Given the description of an element on the screen output the (x, y) to click on. 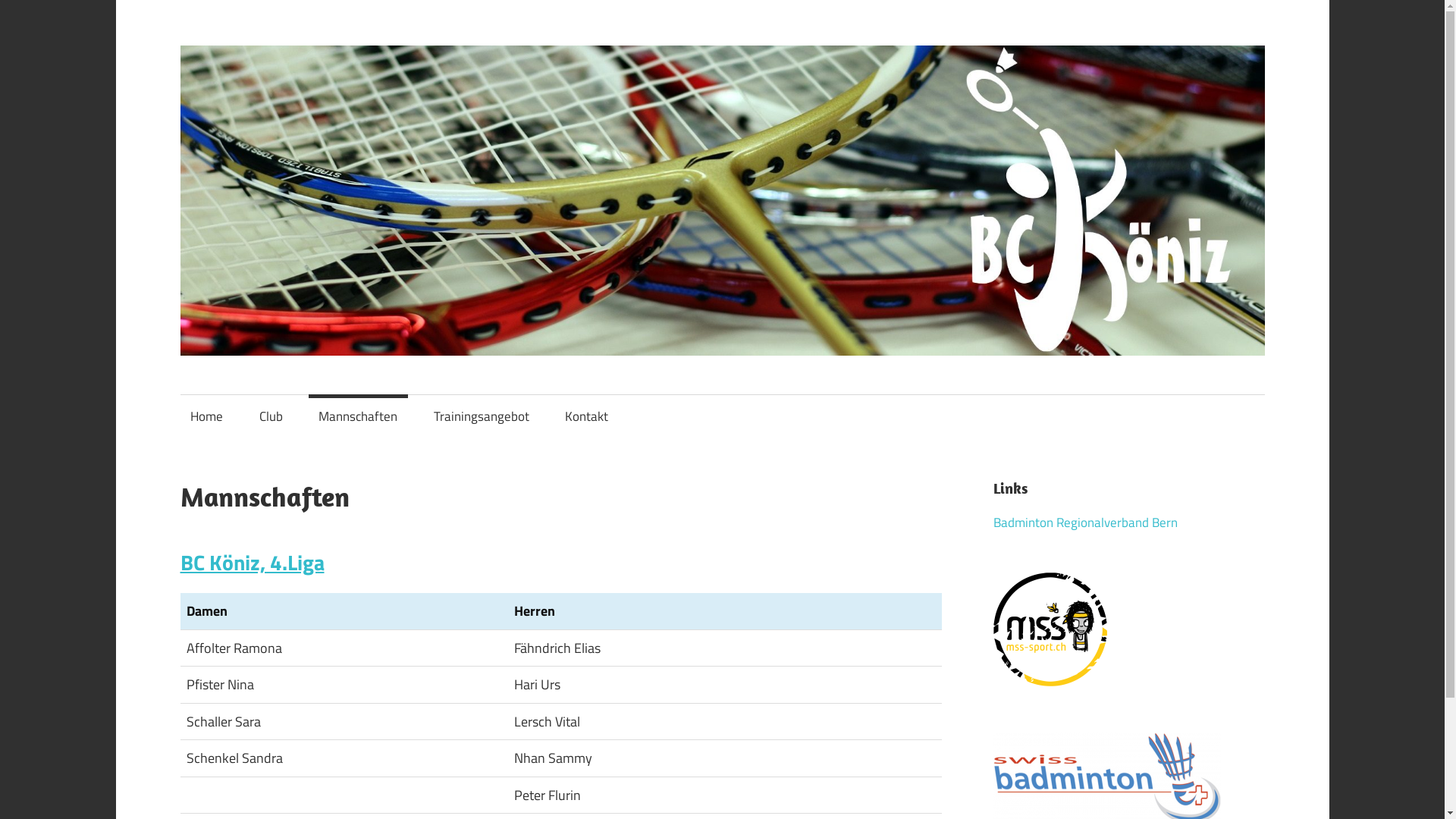
Club Element type: text (270, 416)
Mannschaften Element type: text (357, 416)
Home Element type: text (206, 416)
Trainingsangebot Element type: text (481, 416)
Kontakt Element type: text (586, 416)
Badminton Regionalverband Bern Element type: text (1085, 522)
